Given the description of an element on the screen output the (x, y) to click on. 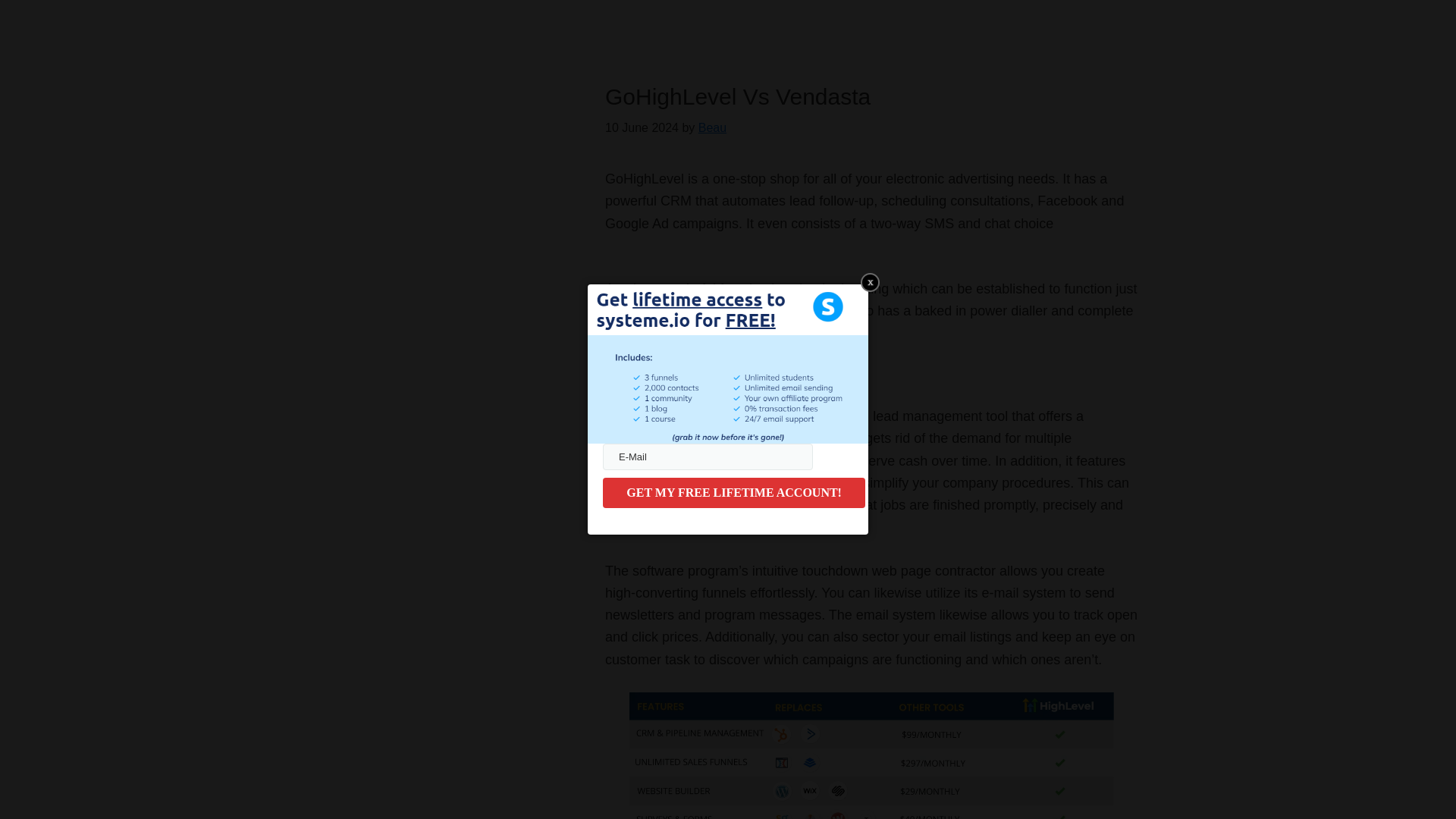
GET MY FREE LIFETIME ACCOUNT! (733, 492)
Beau (712, 127)
GET MY FREE LIFETIME ACCOUNT! (733, 492)
